Given the description of an element on the screen output the (x, y) to click on. 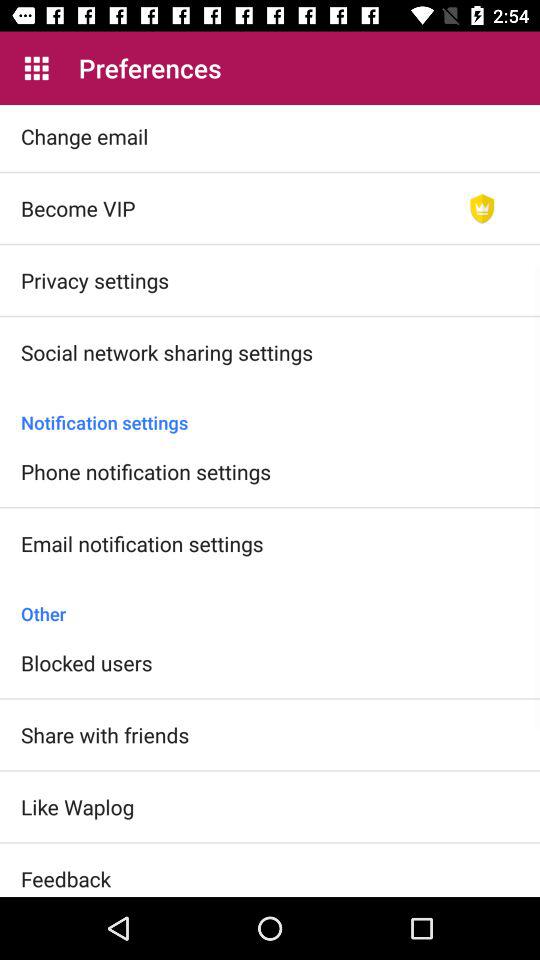
select icon next to the become vip (482, 208)
